Given the description of an element on the screen output the (x, y) to click on. 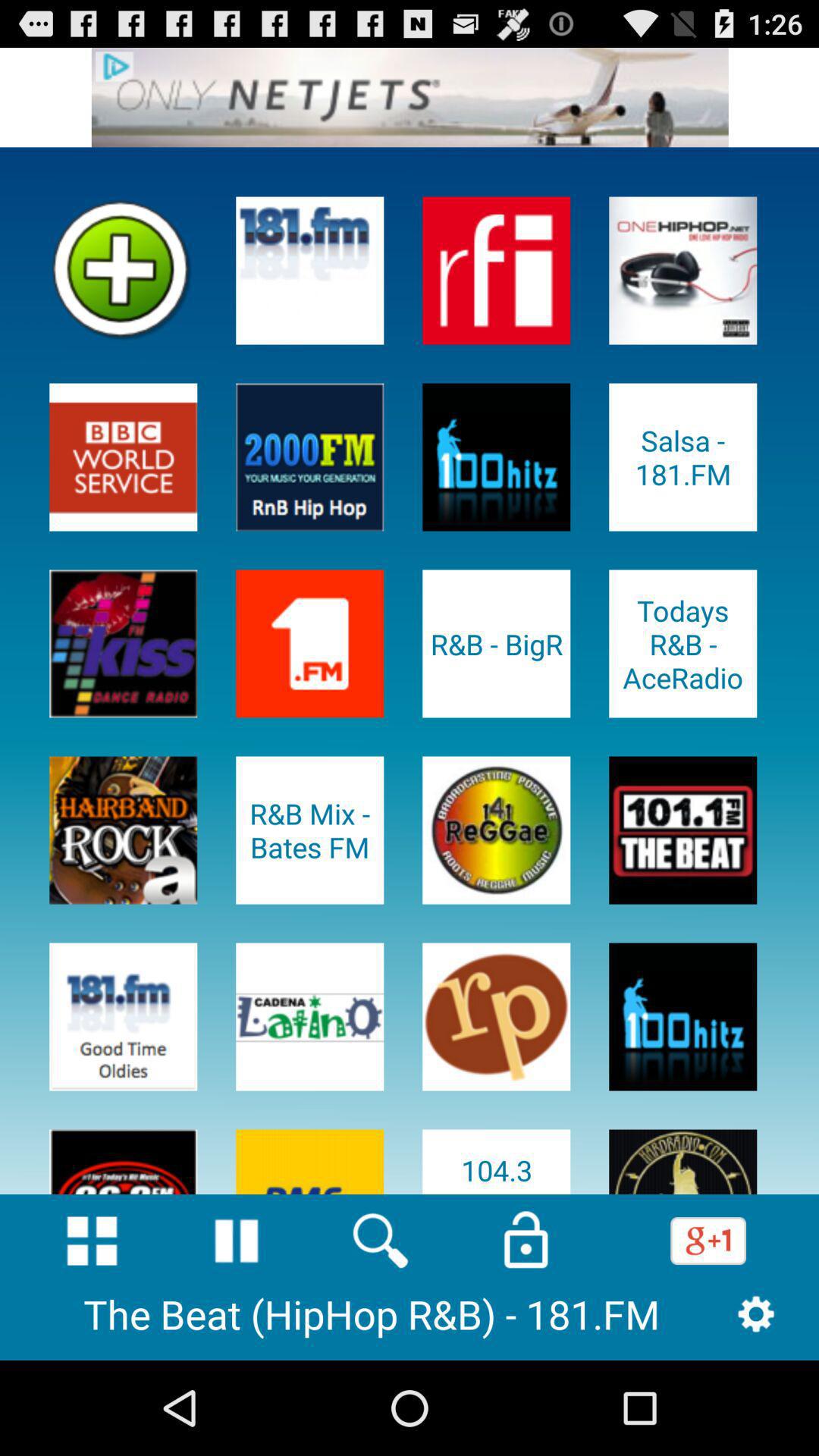
search for stations (380, 1240)
